Given the description of an element on the screen output the (x, y) to click on. 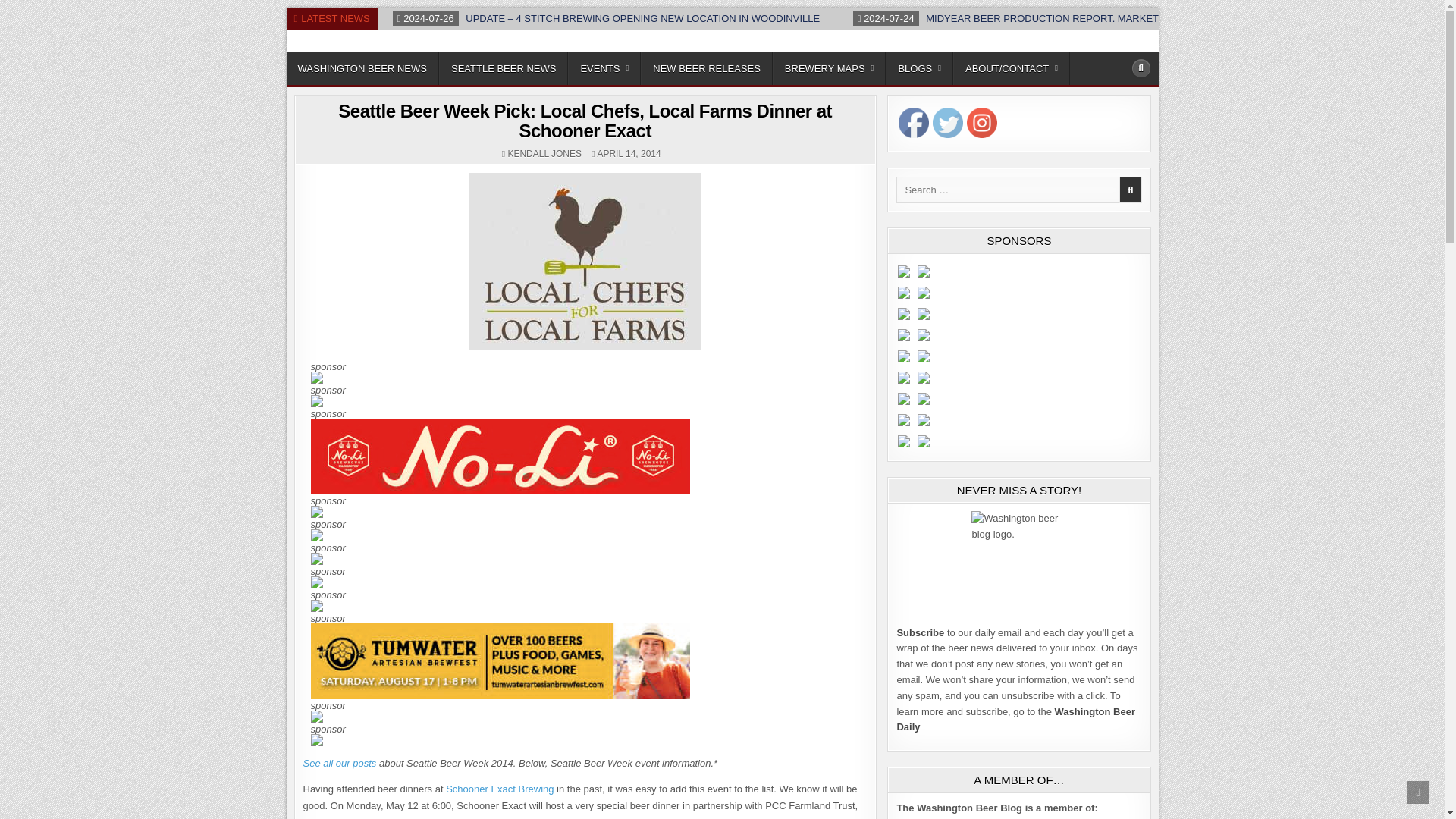
SEATTLE BEER NEWS (503, 68)
The Washington Beer Blog (400, 48)
BLOGS (919, 68)
NEW BEER RELEASES (706, 68)
BREWERY MAPS (829, 68)
WASHINGTON BEER NEWS (362, 68)
EVENTS (603, 68)
KENDALL JONES (543, 153)
SCROLL TO TOP (1417, 792)
